Given the description of an element on the screen output the (x, y) to click on. 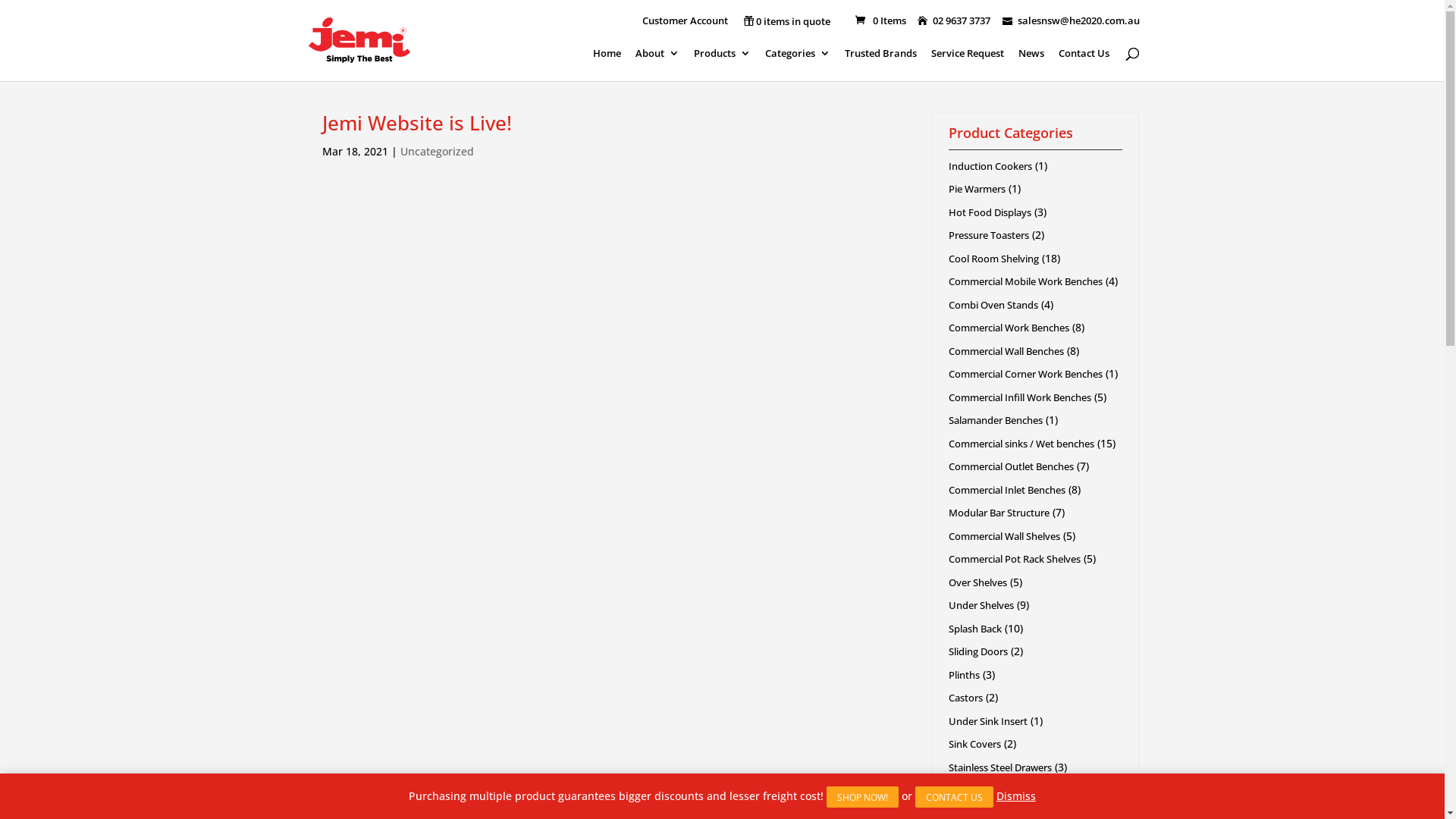
02 9637 3737 Element type: text (958, 20)
News Element type: text (1030, 64)
Commercial sinks / Wet benches Element type: text (1020, 443)
0 items in quote Element type: text (785, 18)
Induction Cookers Element type: text (989, 165)
Splash Back Element type: text (974, 628)
Commercial Wall Shelves Element type: text (1003, 535)
Commercial Infill Work Benches Element type: text (1018, 397)
Service Request Element type: text (967, 64)
Modular Bar Structure Element type: text (997, 512)
Plinths Element type: text (963, 674)
Jemi Website is Live! Element type: text (416, 122)
Commercial Inlet Benches Element type: text (1005, 489)
Customer Account Element type: text (684, 23)
Commercial Mobile Work Benches Element type: text (1024, 281)
Trusted Brands Element type: text (880, 64)
Home Element type: text (607, 64)
About Element type: text (657, 64)
Commercial Corner Work Benches Element type: text (1024, 373)
Hot Food Displays Element type: text (988, 212)
Under Shelves Element type: text (980, 604)
Uncategorized Element type: text (436, 151)
Contact Us Element type: text (1083, 64)
Combi Oven Stands Element type: text (992, 304)
Sink Covers Element type: text (973, 743)
0 Items Element type: text (878, 20)
CONTACT US Element type: text (954, 796)
0 items in quote Element type: text (785, 22)
Stainless Steel Drawers Element type: text (999, 767)
Commercial Wall Benches Element type: text (1005, 350)
SHOP NOW! Element type: text (862, 796)
Over Shelves Element type: text (976, 582)
Salamander Benches Element type: text (994, 419)
Categories Element type: text (796, 64)
Commercial Outlet Benches Element type: text (1010, 466)
Products Element type: text (721, 64)
Dismiss Element type: text (1015, 795)
Cool Room Shelving Element type: text (992, 258)
Commercial Pot Rack Shelves Element type: text (1013, 558)
Castors Element type: text (964, 697)
Commercial Work Benches Element type: text (1007, 327)
Pressure Toasters Element type: text (987, 234)
Hand Basin & Cleaner's Sinks Element type: text (1012, 790)
salesnsw@he2020.com.au Element type: text (1070, 20)
Pie Warmers Element type: text (975, 188)
Under Sink Insert Element type: text (986, 721)
Sliding Doors Element type: text (977, 651)
